Given the description of an element on the screen output the (x, y) to click on. 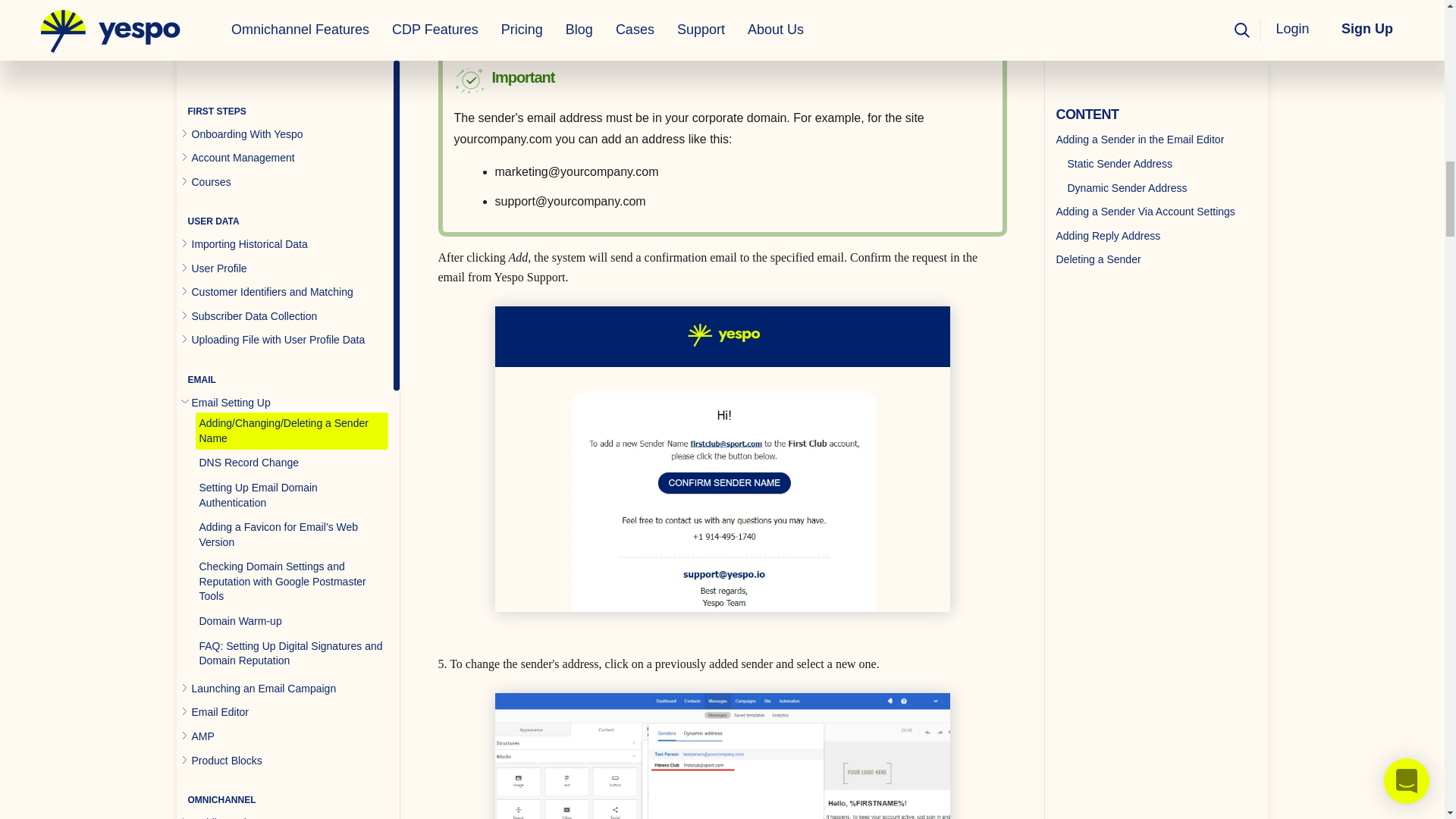
New sender (722, 18)
Select the necessary sender name (722, 755)
